Given the description of an element on the screen output the (x, y) to click on. 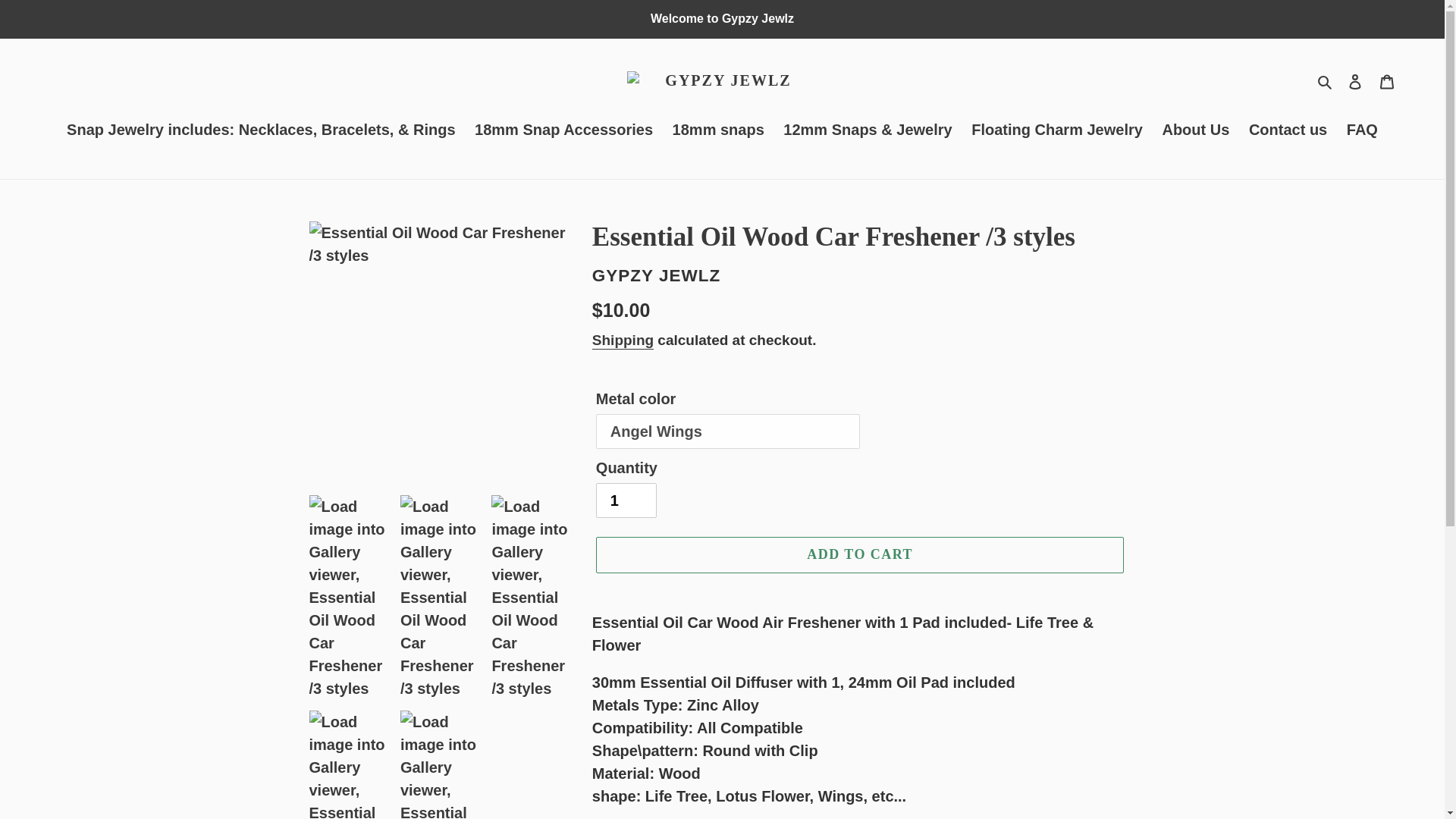
Search (1326, 79)
1 (625, 500)
18mm snaps (718, 130)
ADD TO CART (859, 554)
Contact us (1288, 130)
Floating Charm Jewelry (1056, 130)
18mm Snap Accessories (564, 130)
About Us (1195, 130)
FAQ (1362, 130)
Shipping (622, 340)
